Given the description of an element on the screen output the (x, y) to click on. 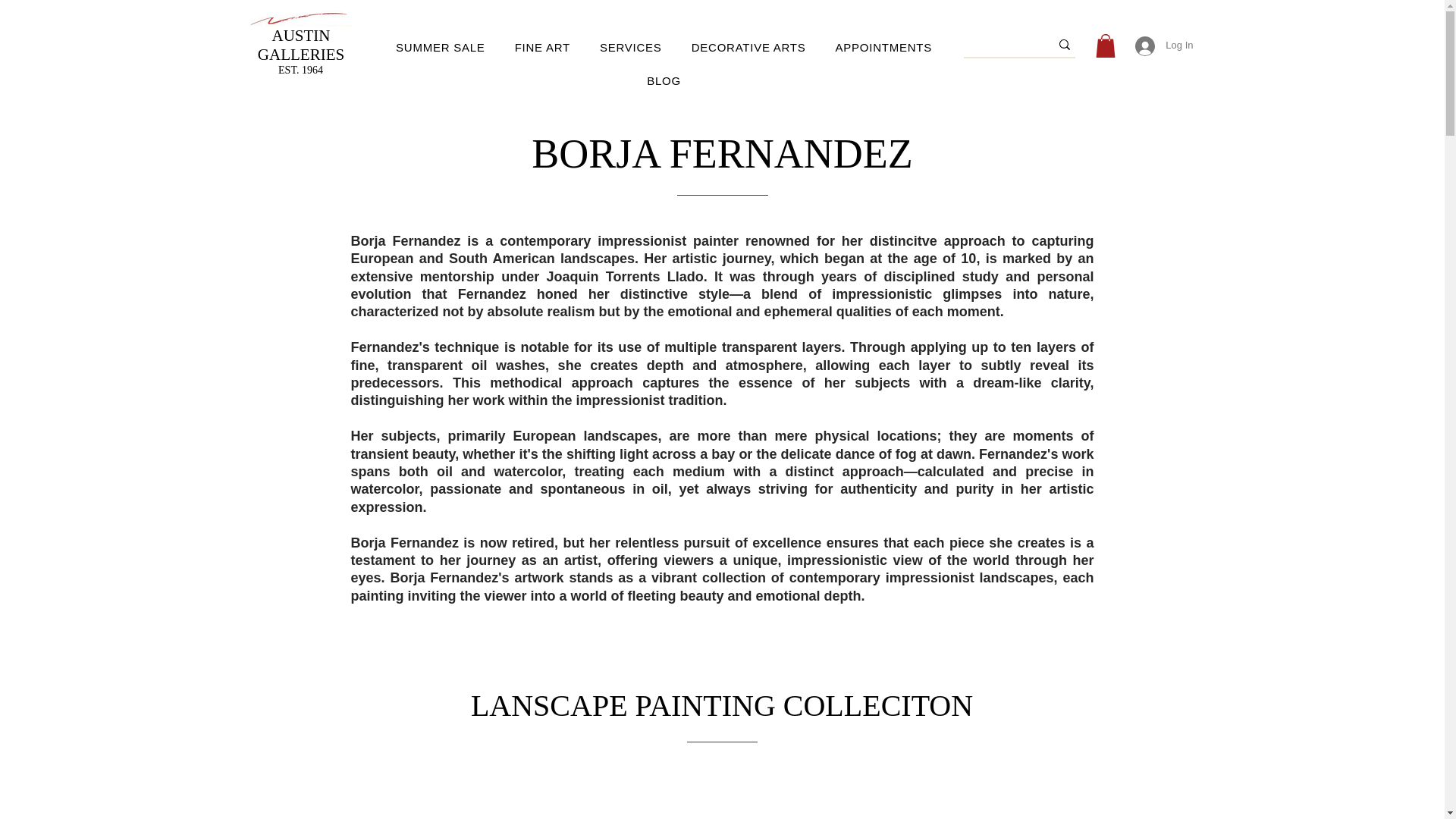
SUMMER SALE (440, 47)
AUSTIN GALLERIES (300, 44)
APPOINTMENTS (883, 47)
DECORATIVE ARTS (747, 47)
FINE ART (541, 47)
Log In (1164, 45)
EST. 1964 (300, 70)
BLOG (663, 81)
SERVICES (630, 47)
